Given the description of an element on the screen output the (x, y) to click on. 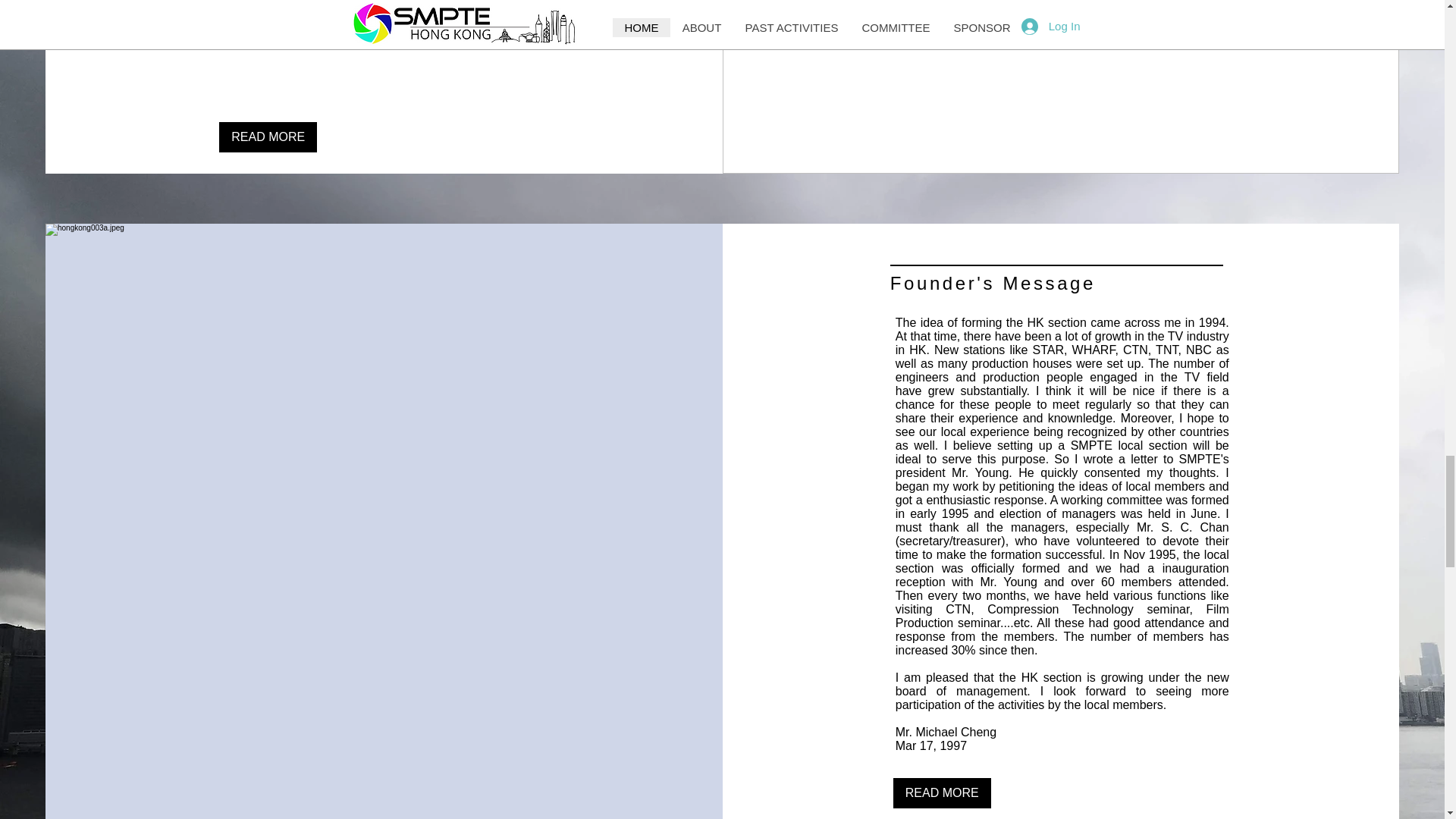
READ MORE (942, 793)
READ MORE (268, 137)
